Given the description of an element on the screen output the (x, y) to click on. 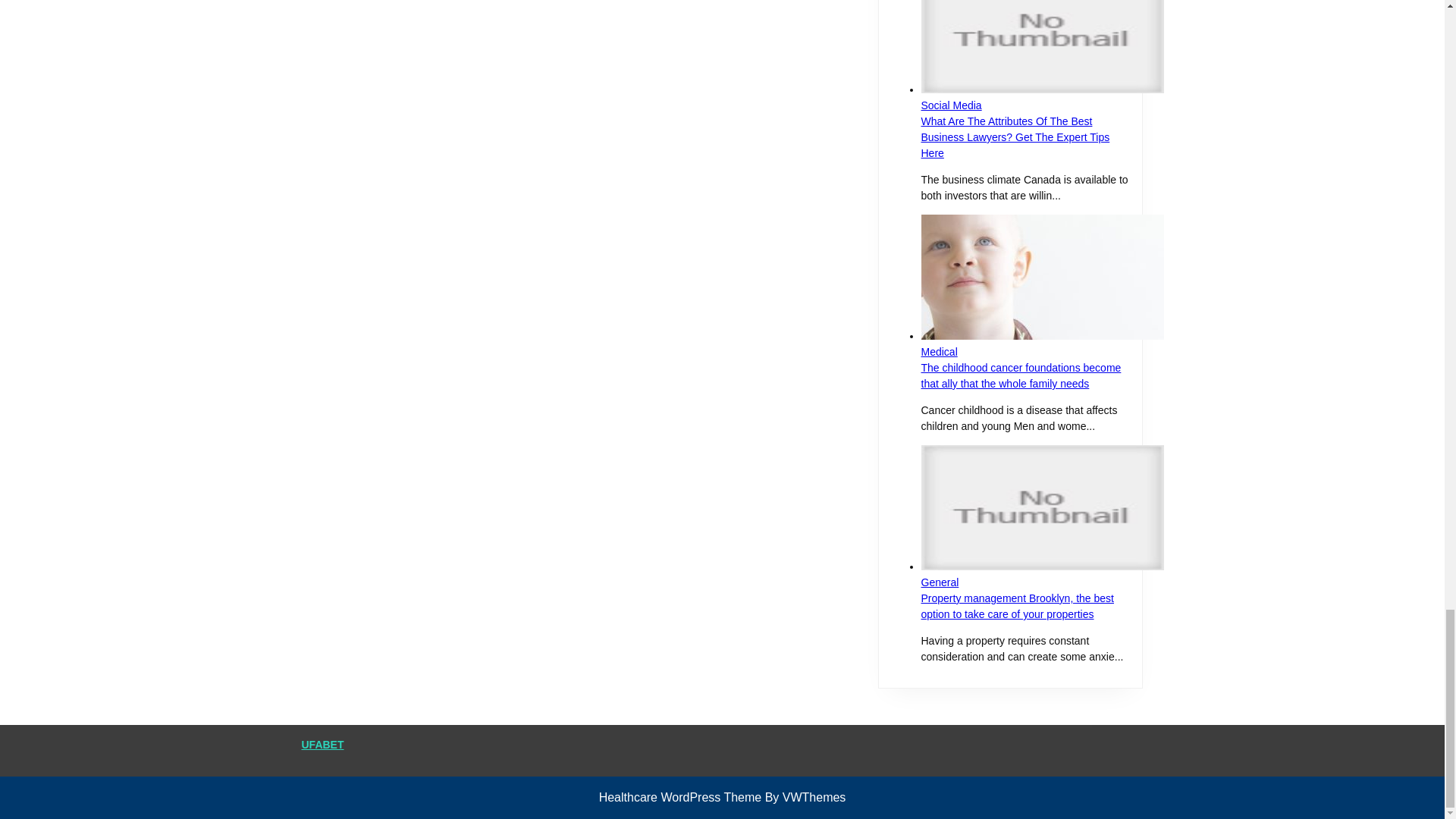
UFABET (322, 744)
